Given the description of an element on the screen output the (x, y) to click on. 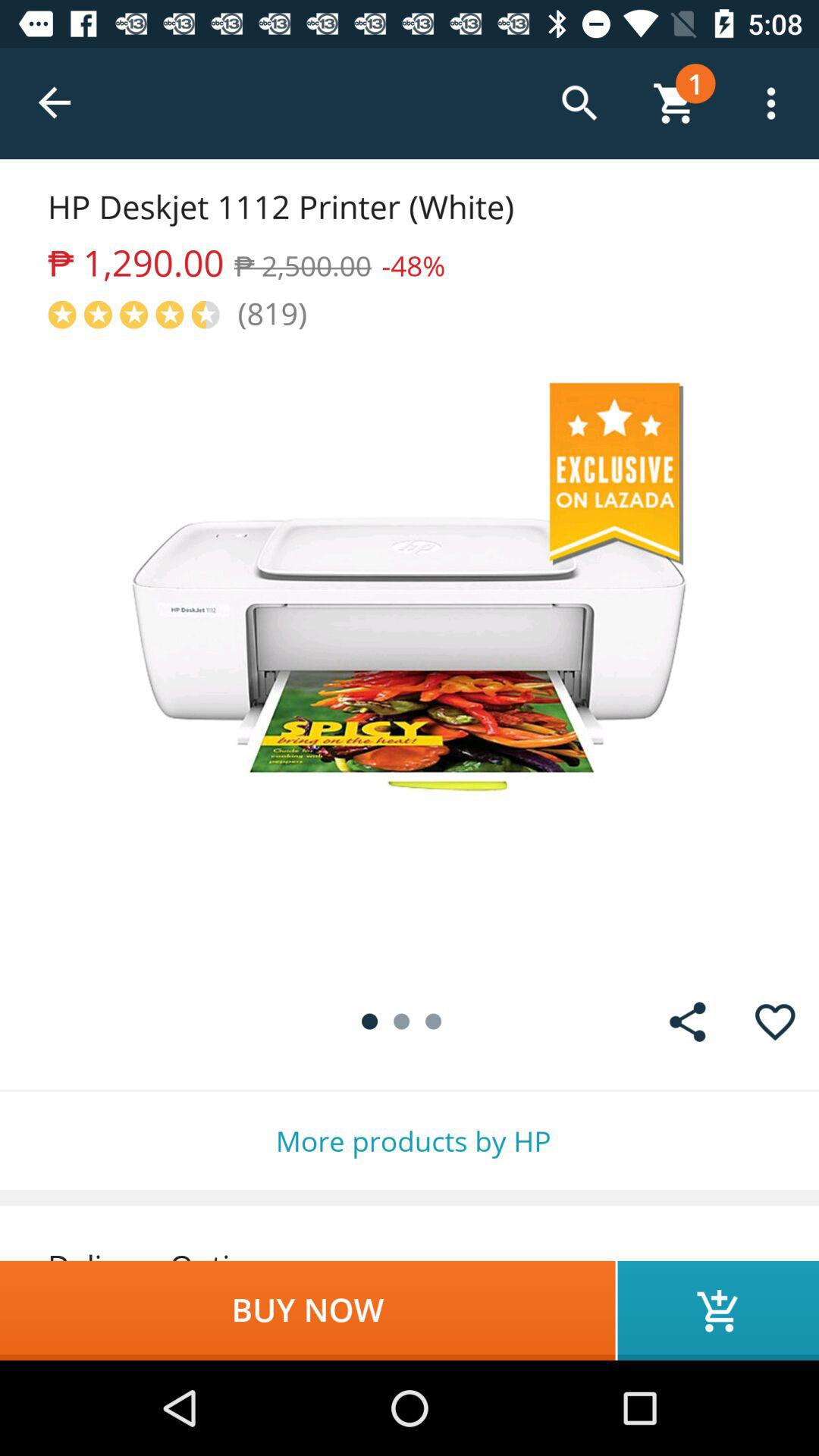
turn off the icon to the right of buy now item (718, 1310)
